Given the description of an element on the screen output the (x, y) to click on. 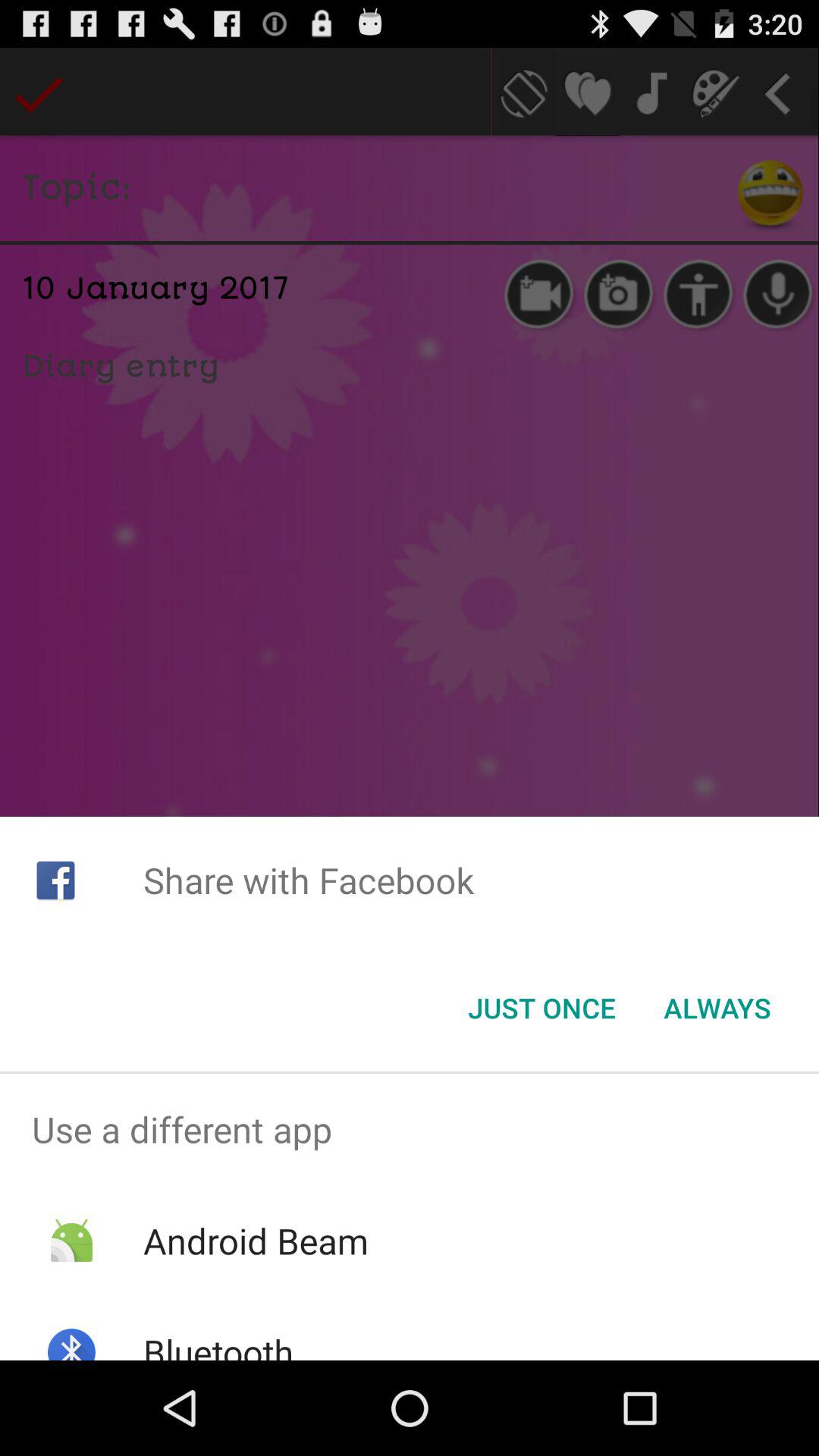
jump to the bluetooth (218, 1344)
